Given the description of an element on the screen output the (x, y) to click on. 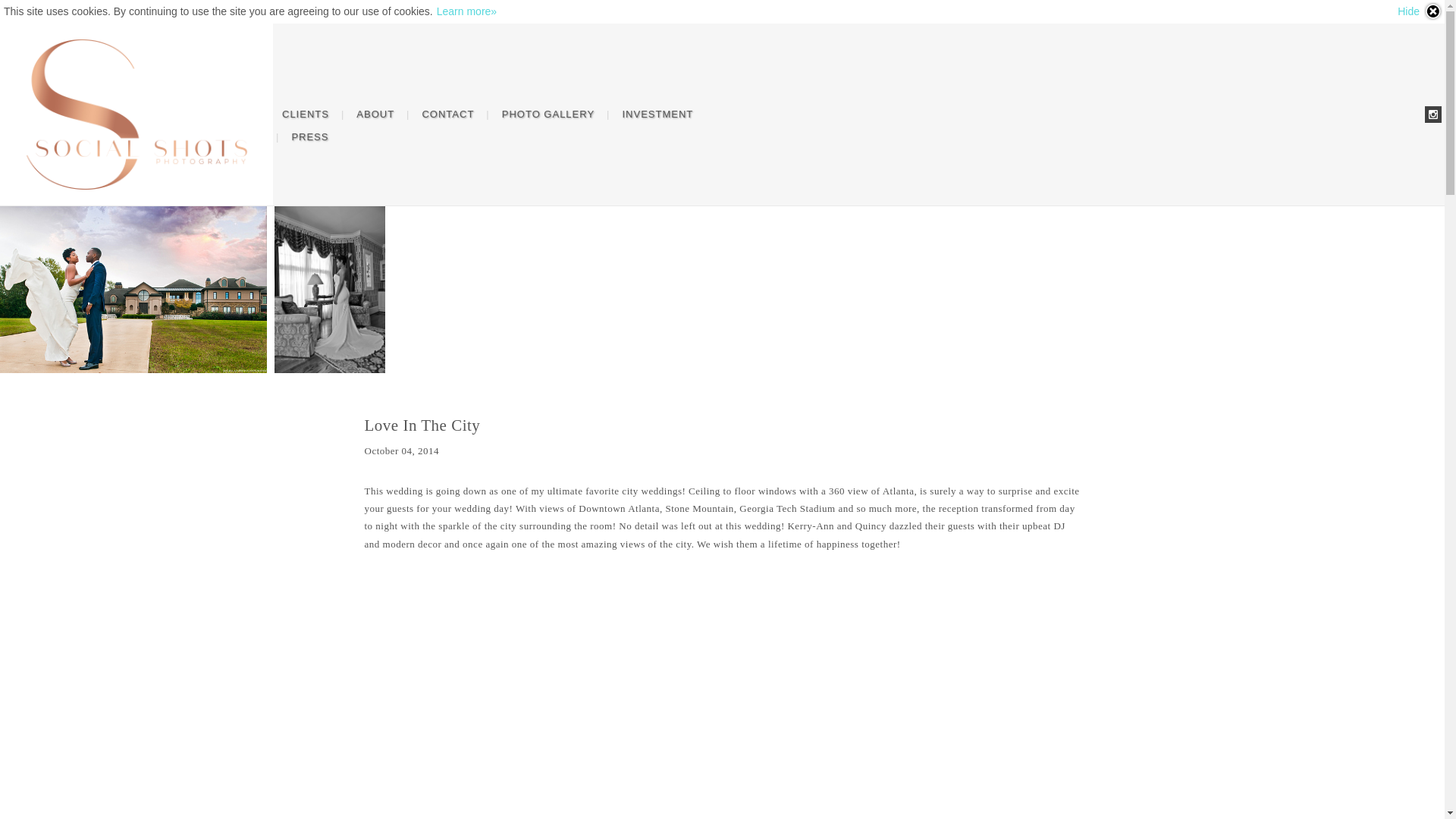
PRESS (309, 137)
ABOUT (375, 114)
PHOTO GALLERY (548, 114)
CLIENTS (305, 114)
INVESTMENT (656, 114)
CONTACT (447, 114)
Social Shots Photography (136, 114)
Hide (1419, 11)
